Given the description of an element on the screen output the (x, y) to click on. 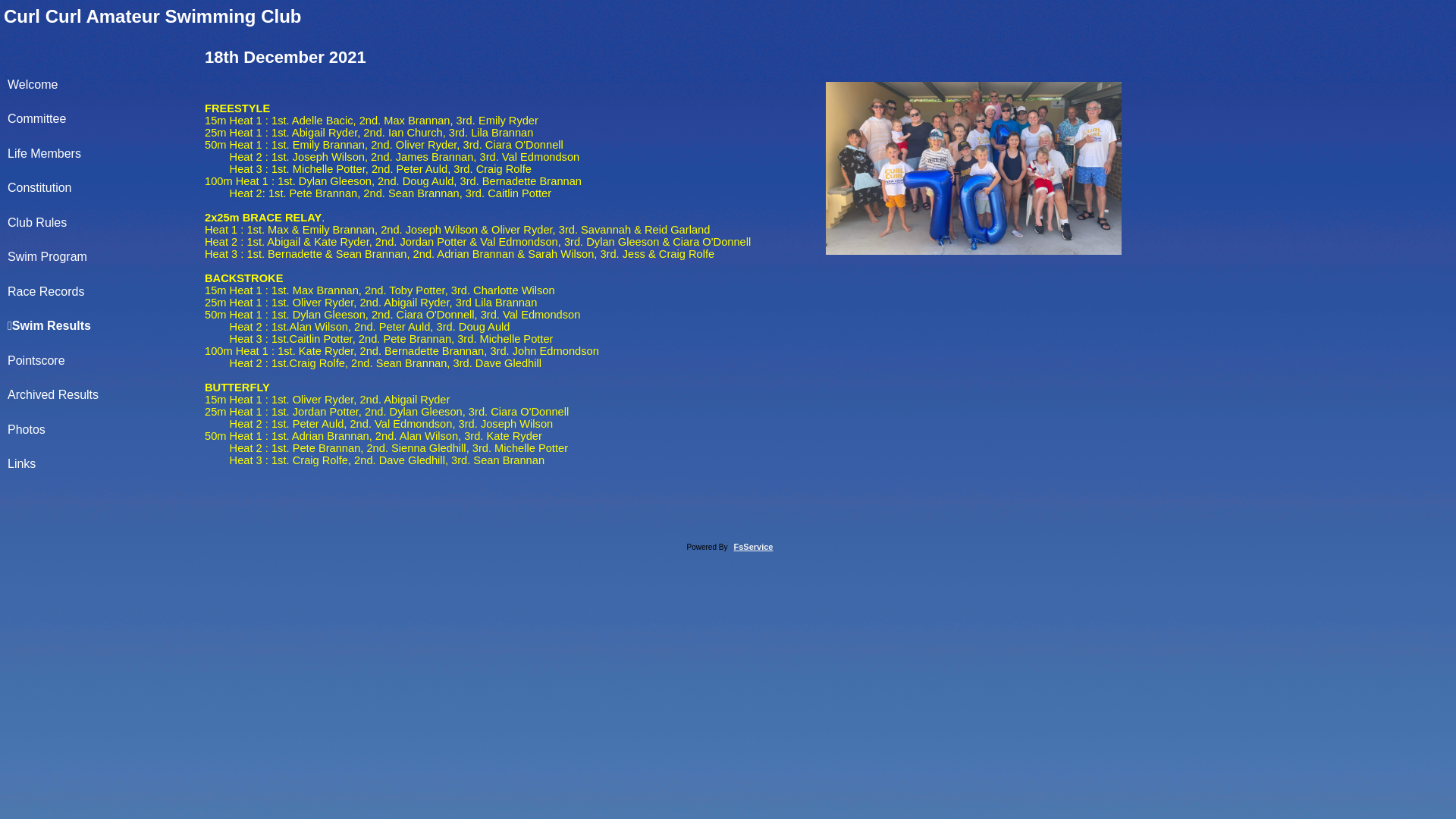
Race Records Element type: text (100, 291)
Welcome Element type: text (100, 84)
Photos Element type: text (100, 429)
Archived Results Element type: text (100, 394)
Constitution Element type: text (100, 187)
Life Members Element type: text (100, 153)
Swim Program Element type: text (100, 256)
FsService Element type: text (753, 546)
Curl Curl Amateur Swimming Club Element type: text (152, 16)
Links Element type: text (100, 463)
Committee Element type: text (100, 118)
Club Rules Element type: text (100, 222)
Pointscore Element type: text (100, 360)
